Given the description of an element on the screen output the (x, y) to click on. 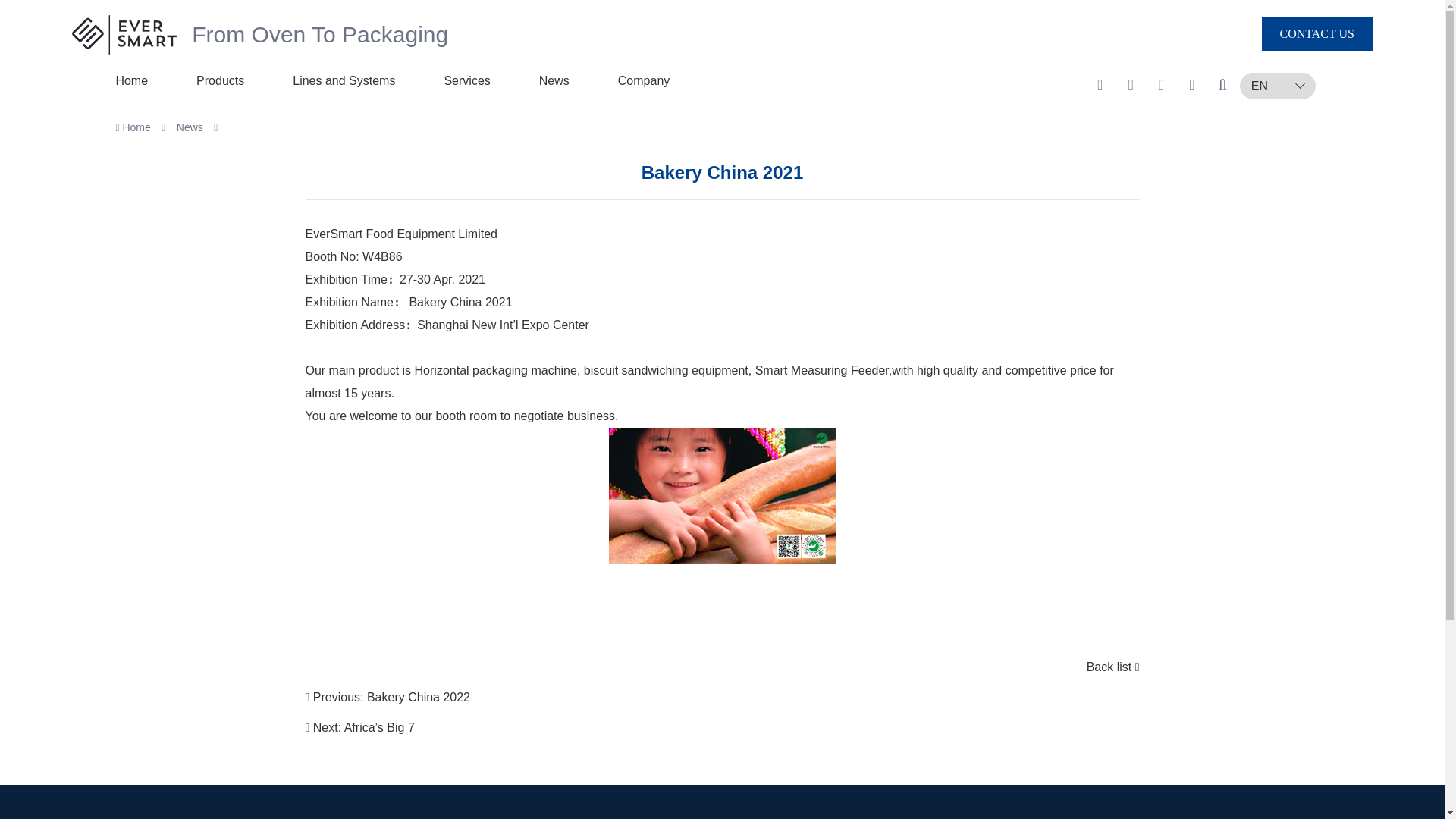
Home (131, 80)
News (553, 80)
Lines and Systems (343, 80)
Products (220, 80)
EN (1277, 85)
Services (466, 80)
Company (643, 80)
CONTACT US (1317, 33)
